Given the description of an element on the screen output the (x, y) to click on. 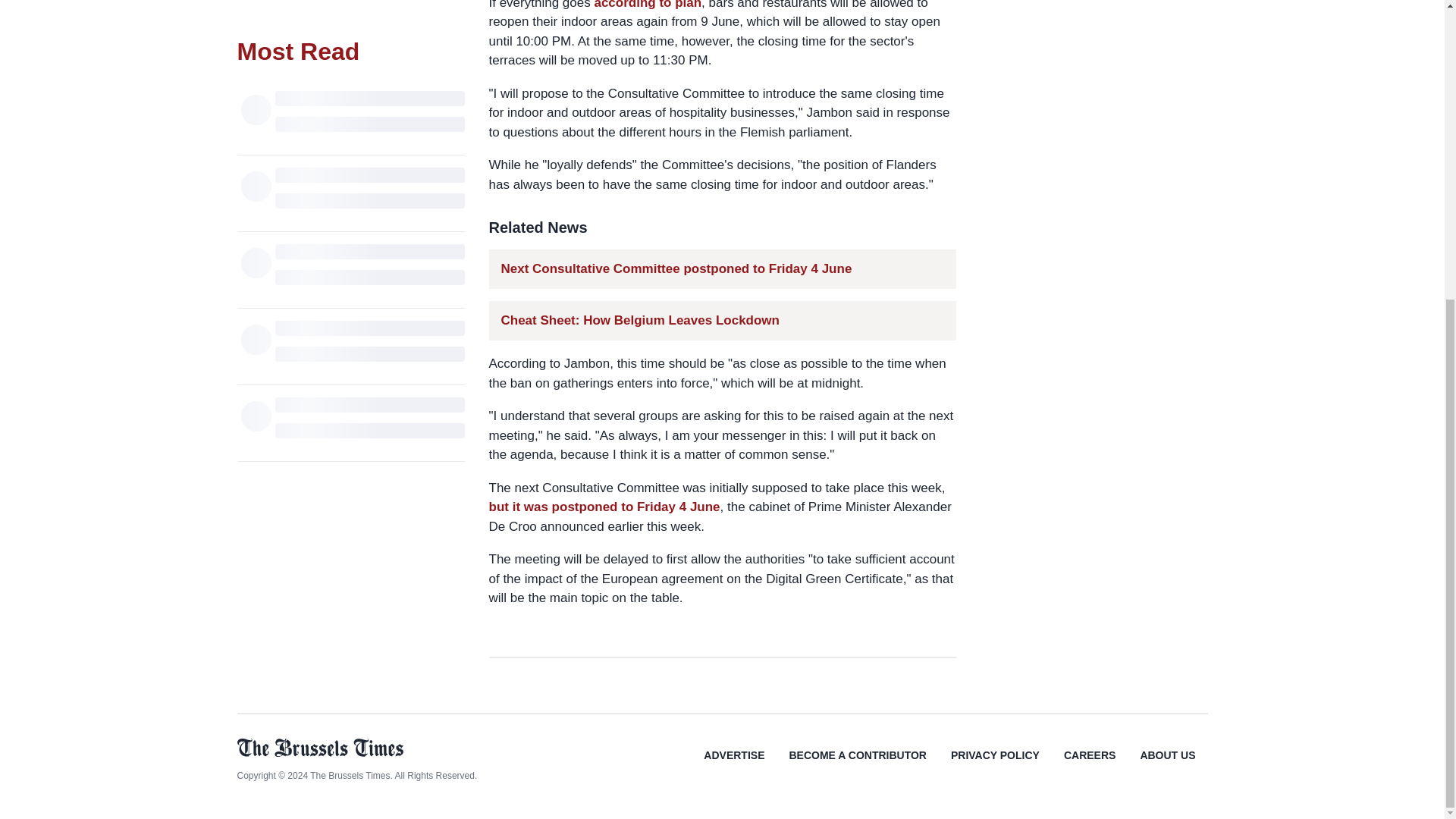
ABOUT US (1166, 765)
ADVERTISE (733, 765)
according to plan (647, 4)
Cheat Sheet: How Belgium Leaves Lockdown (639, 320)
PRIVACY POLICY (995, 765)
BECOME A CONTRIBUTOR (856, 765)
Next Consultative Committee postponed to Friday 4 June (675, 268)
CAREERS (1088, 765)
but it was postponed to Friday 4 June (603, 506)
